Given the description of an element on the screen output the (x, y) to click on. 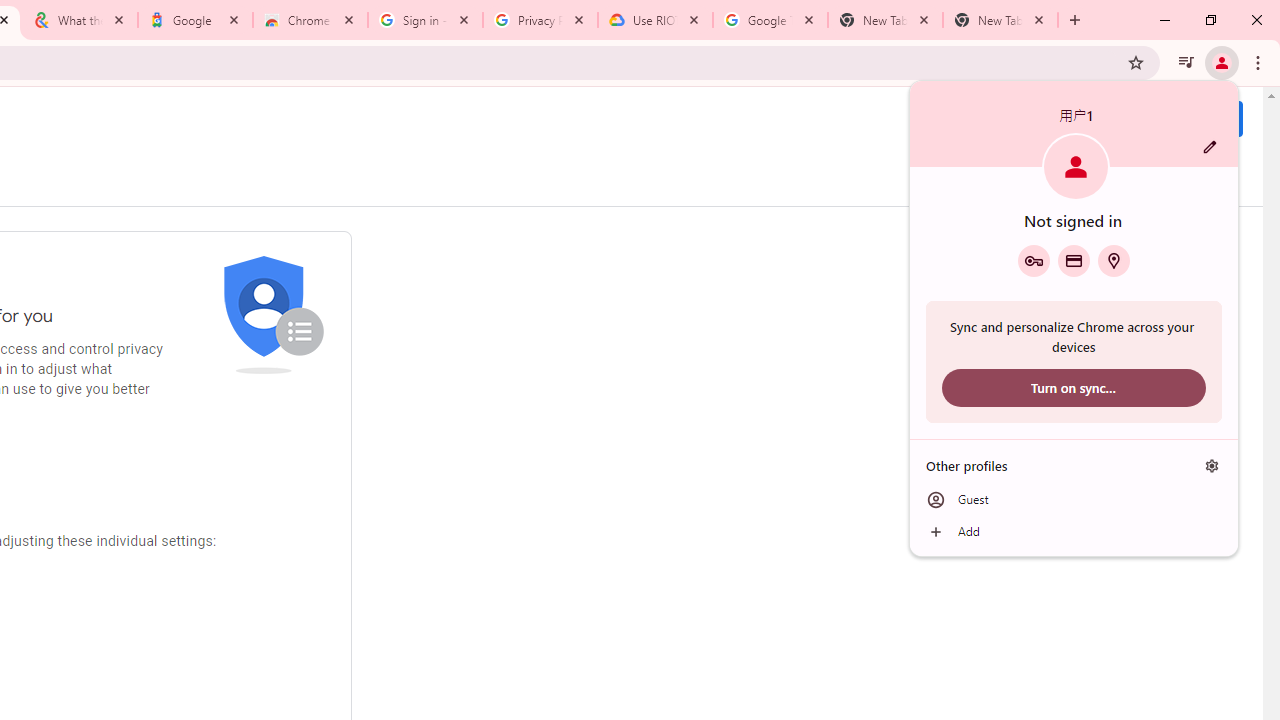
Customize profile (1210, 147)
Chrome Web Store - Color themes by Chrome (310, 20)
Google (195, 20)
Sign in - Google Accounts (424, 20)
Manage profiles (1211, 465)
Google Password Manager (1033, 260)
Payment methods (1074, 260)
